Given the description of an element on the screen output the (x, y) to click on. 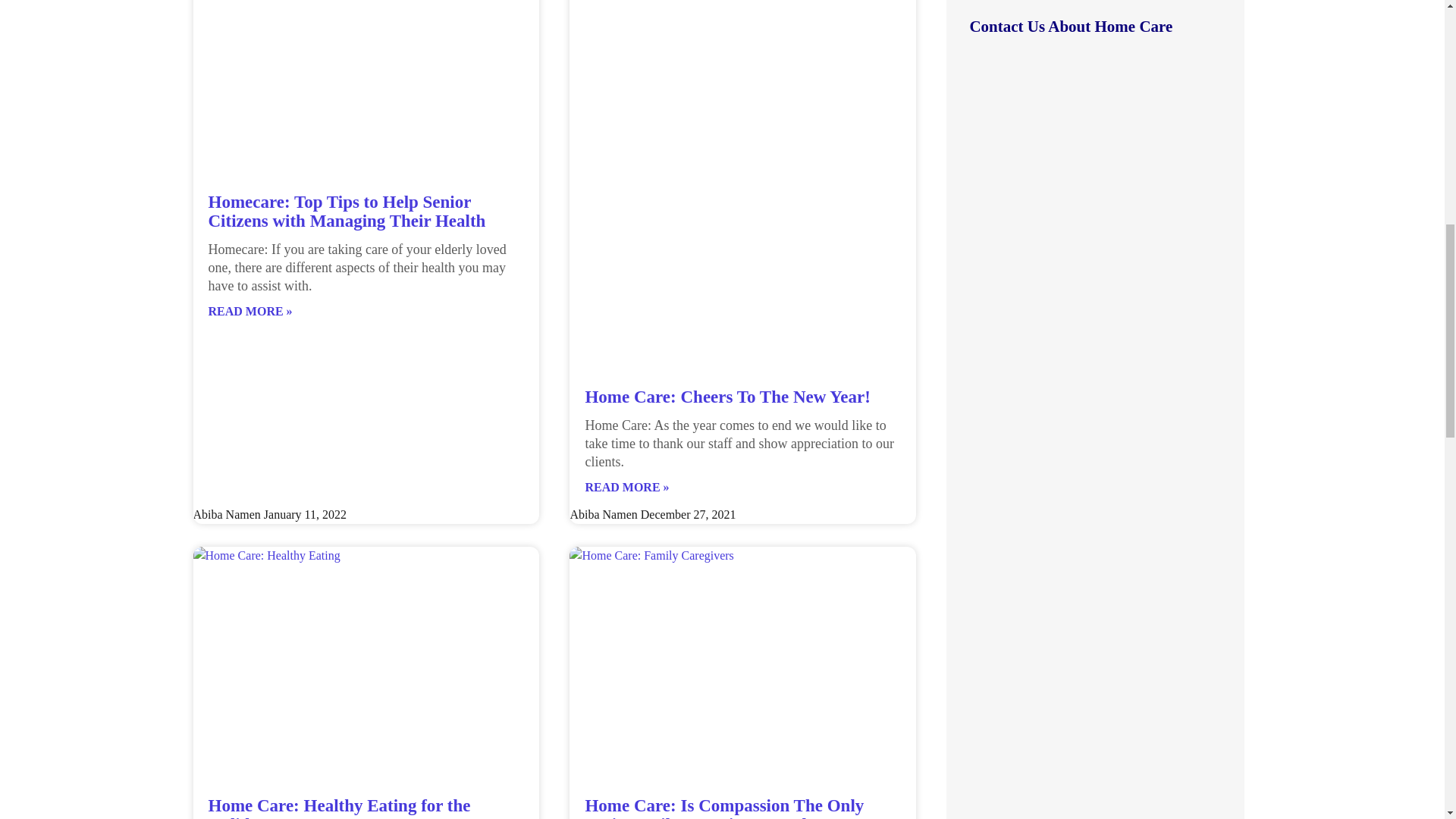
General Inquiries  (1095, 115)
Home Care: Healthy Eating for the Holidays (339, 807)
Home Care: Cheers To The New Year! (727, 396)
